Given the description of an element on the screen output the (x, y) to click on. 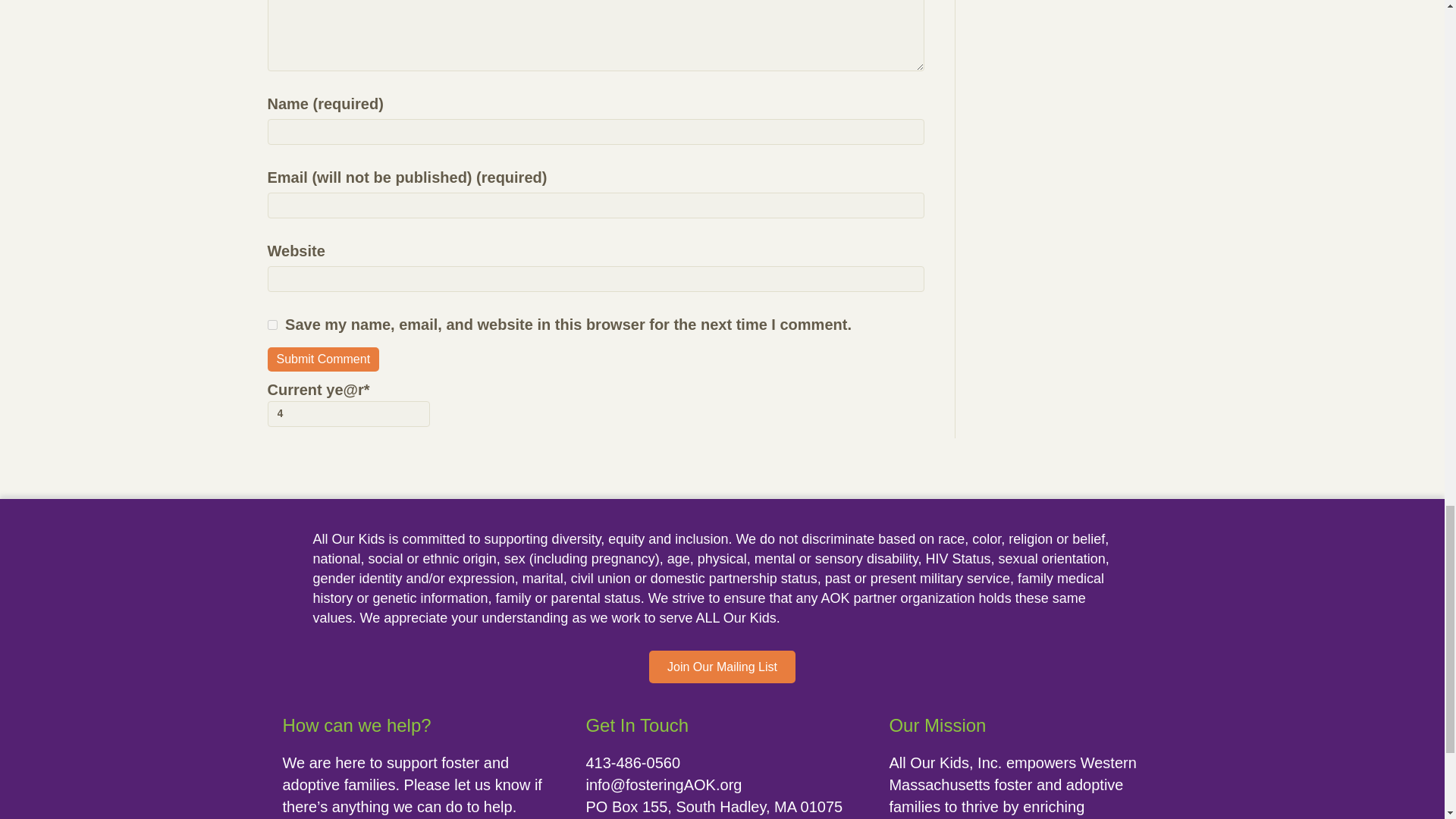
Submit Comment (322, 359)
yes (271, 325)
4 (347, 413)
